Given the description of an element on the screen output the (x, y) to click on. 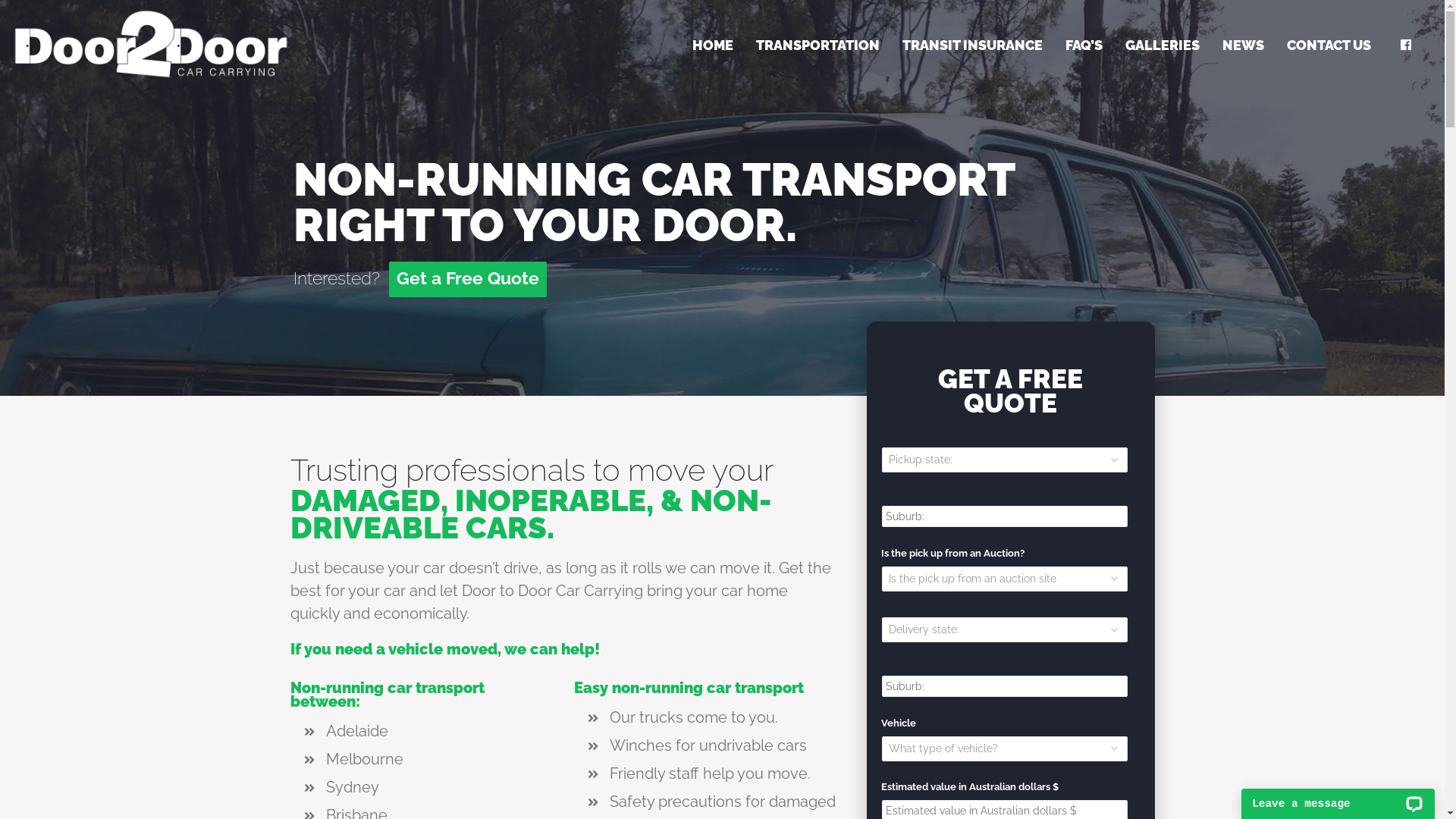
TRANSIT INSURANCE Element type: text (972, 45)
Get a Free Quote Element type: text (467, 279)
CONTACT US Element type: text (1328, 45)
GALLERIES Element type: text (1162, 45)
TRANSPORTATION Element type: text (817, 45)
NEWS Element type: text (1243, 45)
HOME Element type: text (712, 45)
